Given the description of an element on the screen output the (x, y) to click on. 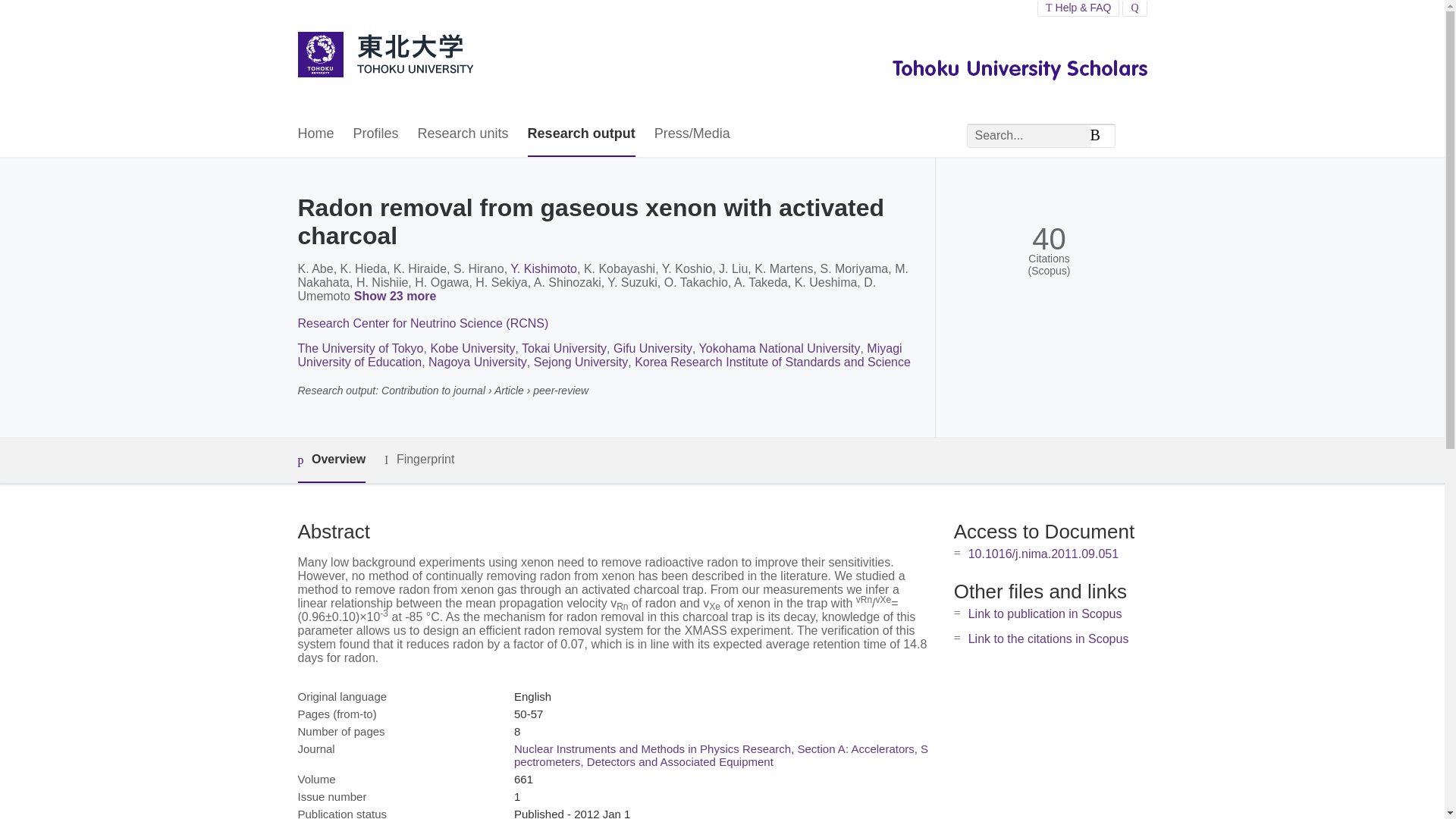
Korea Research Institute of Standards and Science (772, 361)
Fingerprint (419, 459)
Link to publication in Scopus (1045, 613)
Sejong University (581, 361)
Tokai University (564, 348)
Kobe University (472, 348)
Show 23 more (397, 296)
Y. Kishimoto (543, 268)
Tohoku University Home (384, 55)
Nagoya University (477, 361)
Research output (580, 134)
Research units (462, 134)
Link to the citations in Scopus (1048, 638)
Profiles (375, 134)
